Given the description of an element on the screen output the (x, y) to click on. 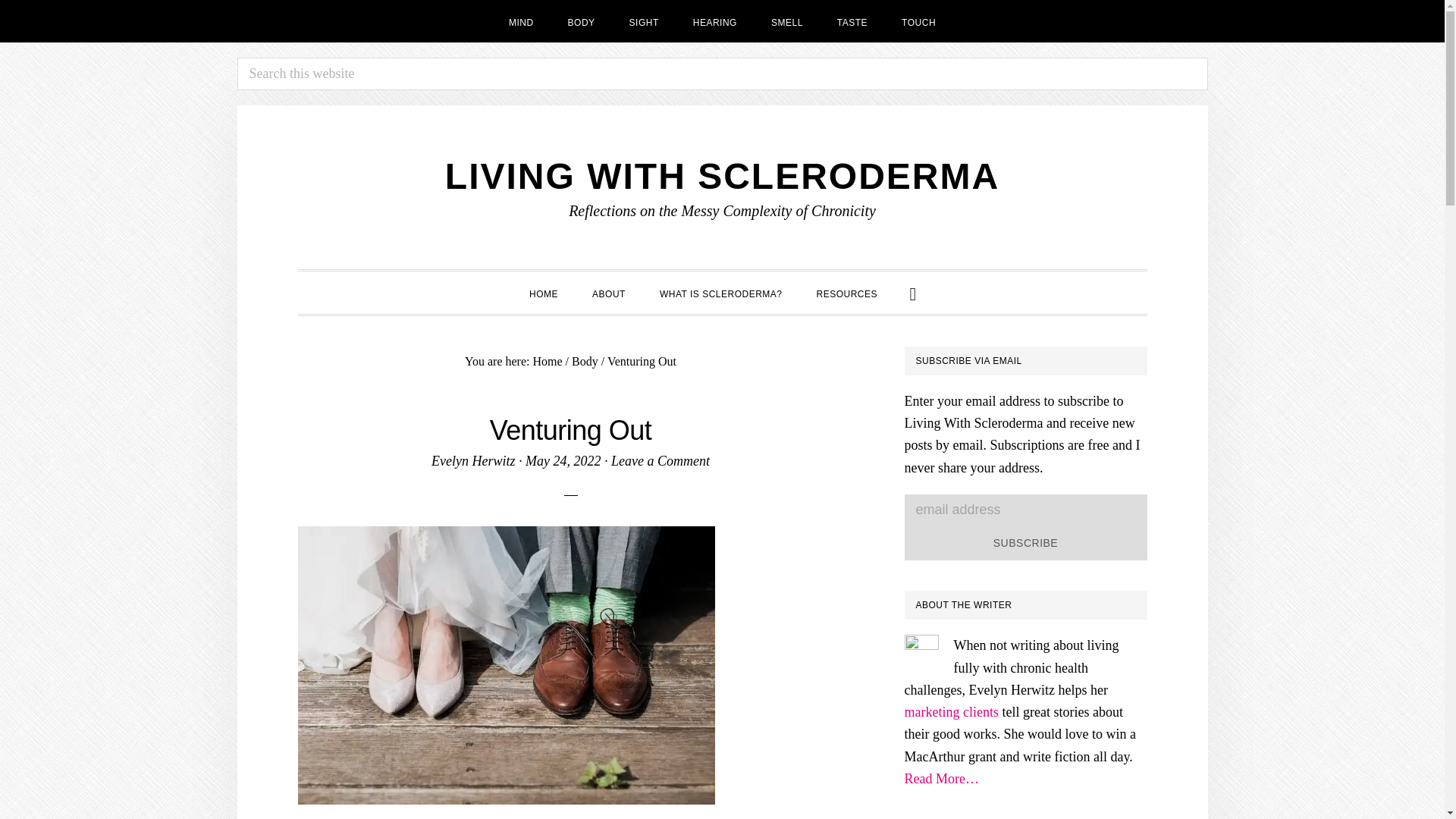
Evelyn Herwitz (472, 460)
WHAT IS SCLERODERMA? (721, 292)
LIVING WITH SCLERODERMA (721, 176)
Subscribe (1025, 542)
SIGHT (644, 21)
ABOUT (608, 292)
MIND (520, 21)
Home (547, 360)
TOUCH (918, 21)
Leave a Comment (660, 460)
HEARING (715, 21)
Body (585, 360)
BODY (581, 21)
